Given the description of an element on the screen output the (x, y) to click on. 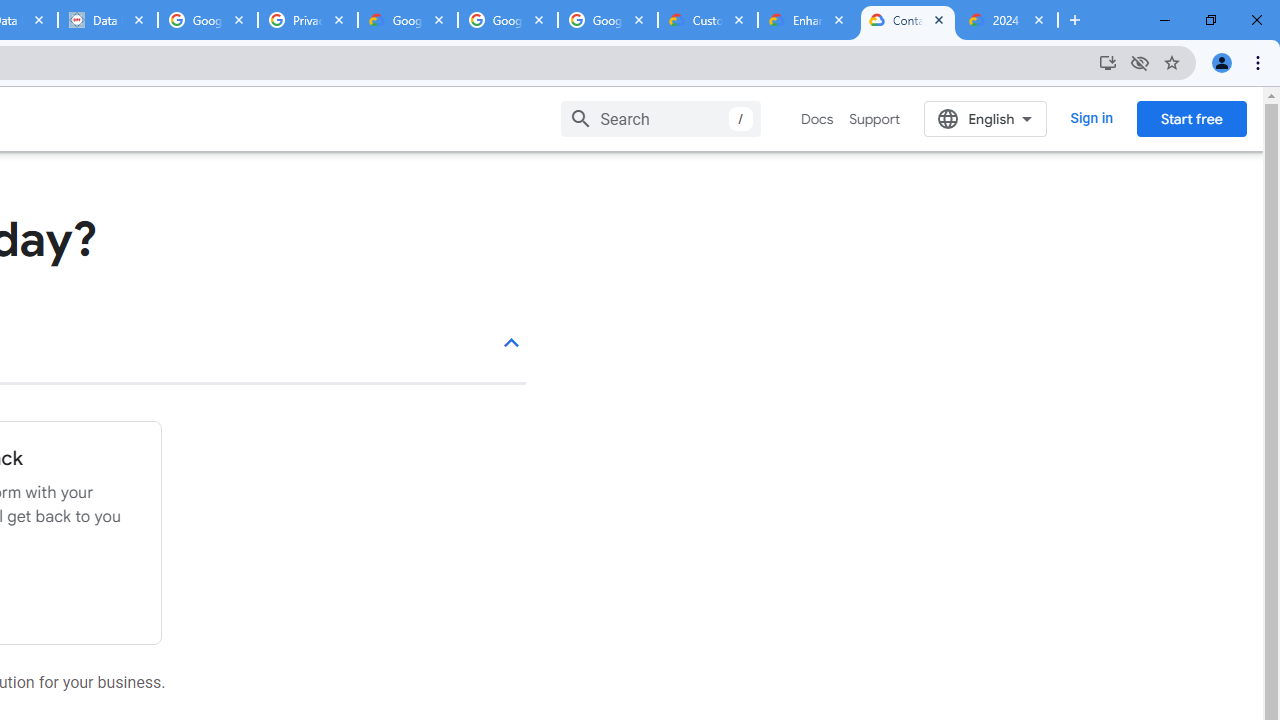
Start free (1191, 118)
Data Privacy Framework (107, 20)
Enhanced Support | Google Cloud (807, 20)
Google Workspace - Specific Terms (607, 20)
Docs (817, 119)
Customer Care | Google Cloud (707, 20)
English (985, 118)
